Given the description of an element on the screen output the (x, y) to click on. 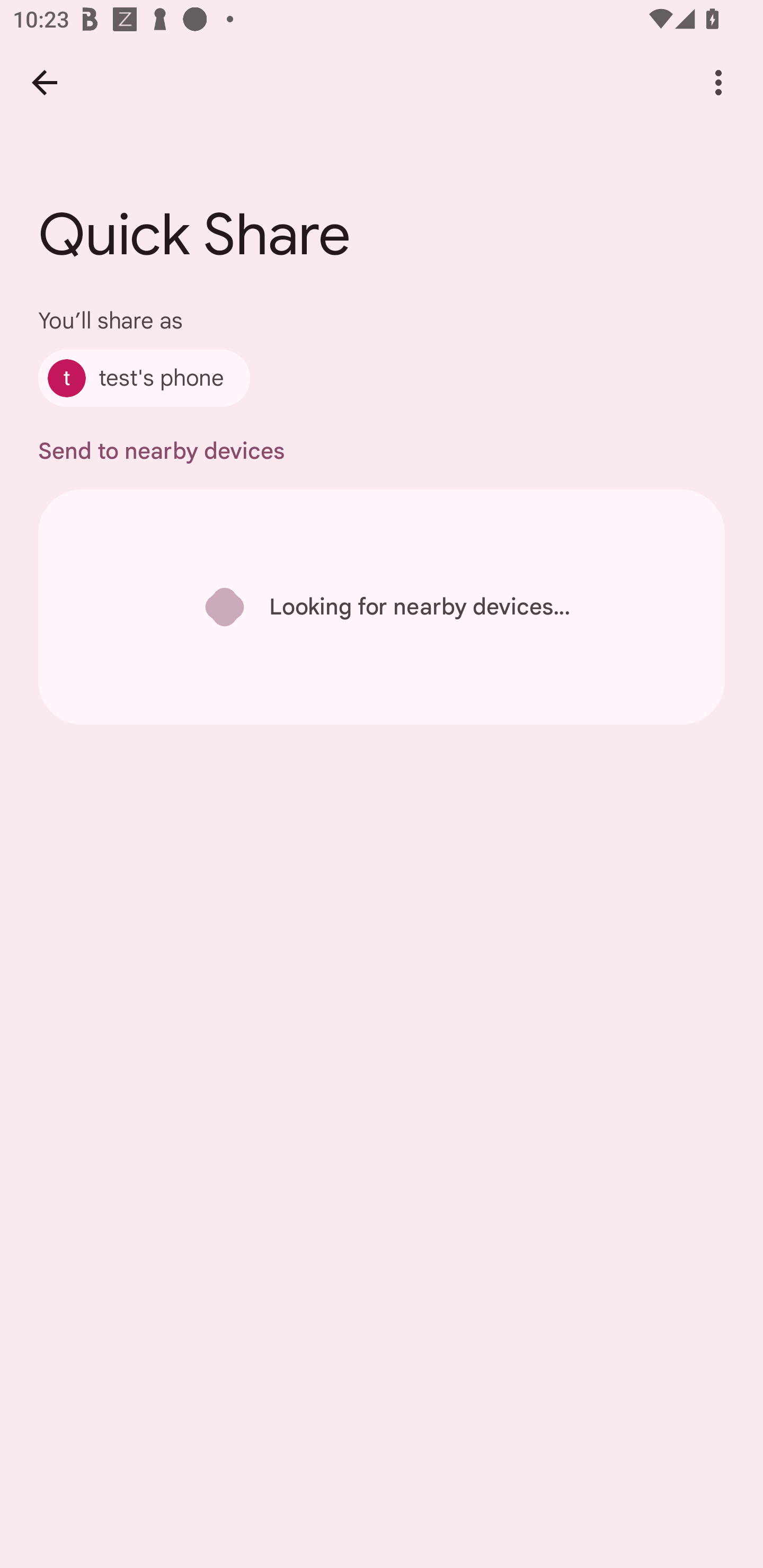
Back (44, 81)
More (718, 81)
test's phone (144, 378)
